Given the description of an element on the screen output the (x, y) to click on. 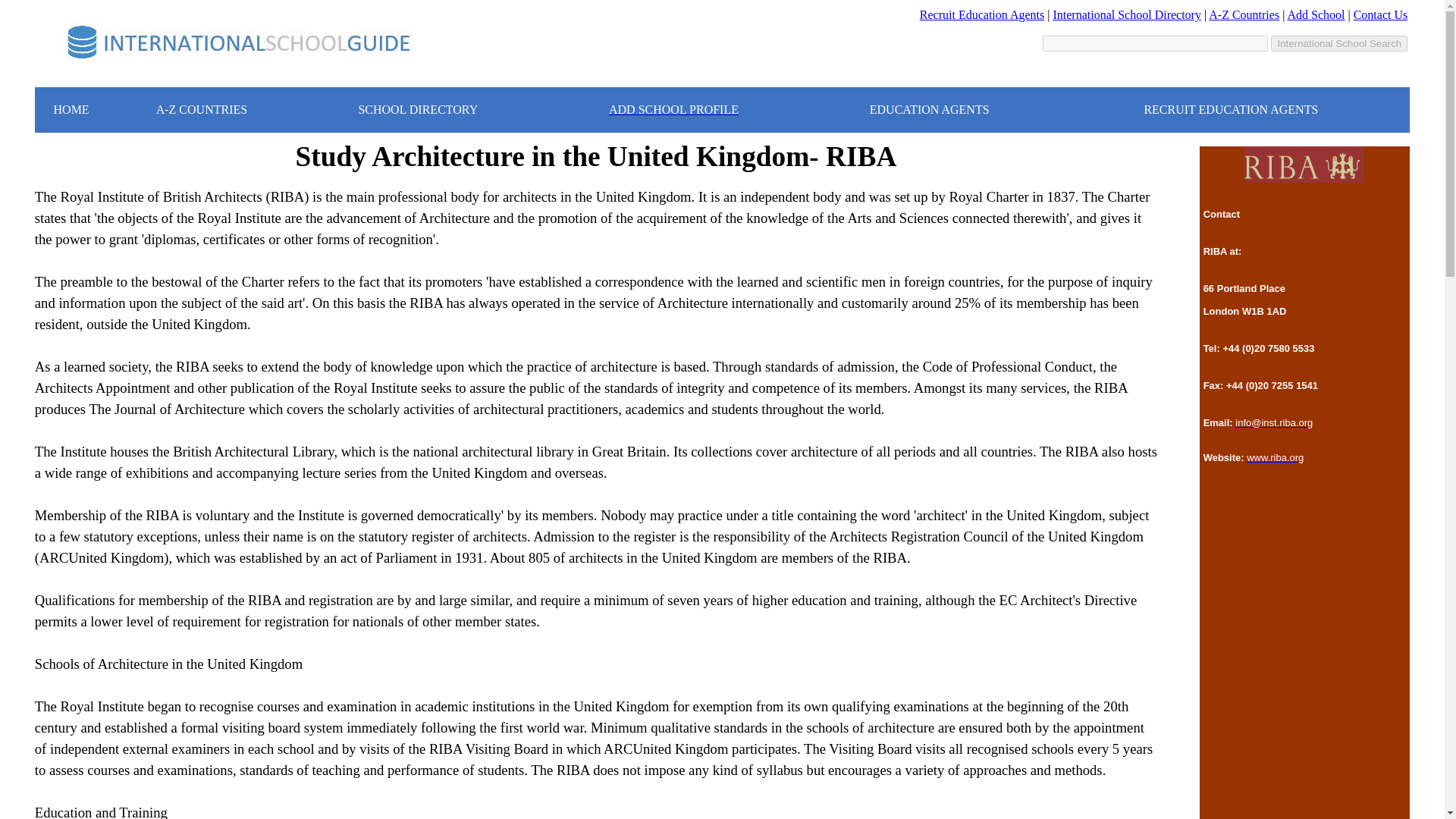
ADD SCHOOL PROFILE (673, 109)
International School Search (1339, 43)
EDUCATION AGENTS (929, 109)
Recruit Education Agents (981, 14)
SCHOOL DIRECTORY (417, 109)
RECRUIT EDUCATION AGENTS (1229, 109)
A-Z Countries (1243, 14)
A-Z COUNTRIES (201, 109)
www.riba.org (1274, 457)
HOME (70, 109)
